Given the description of an element on the screen output the (x, y) to click on. 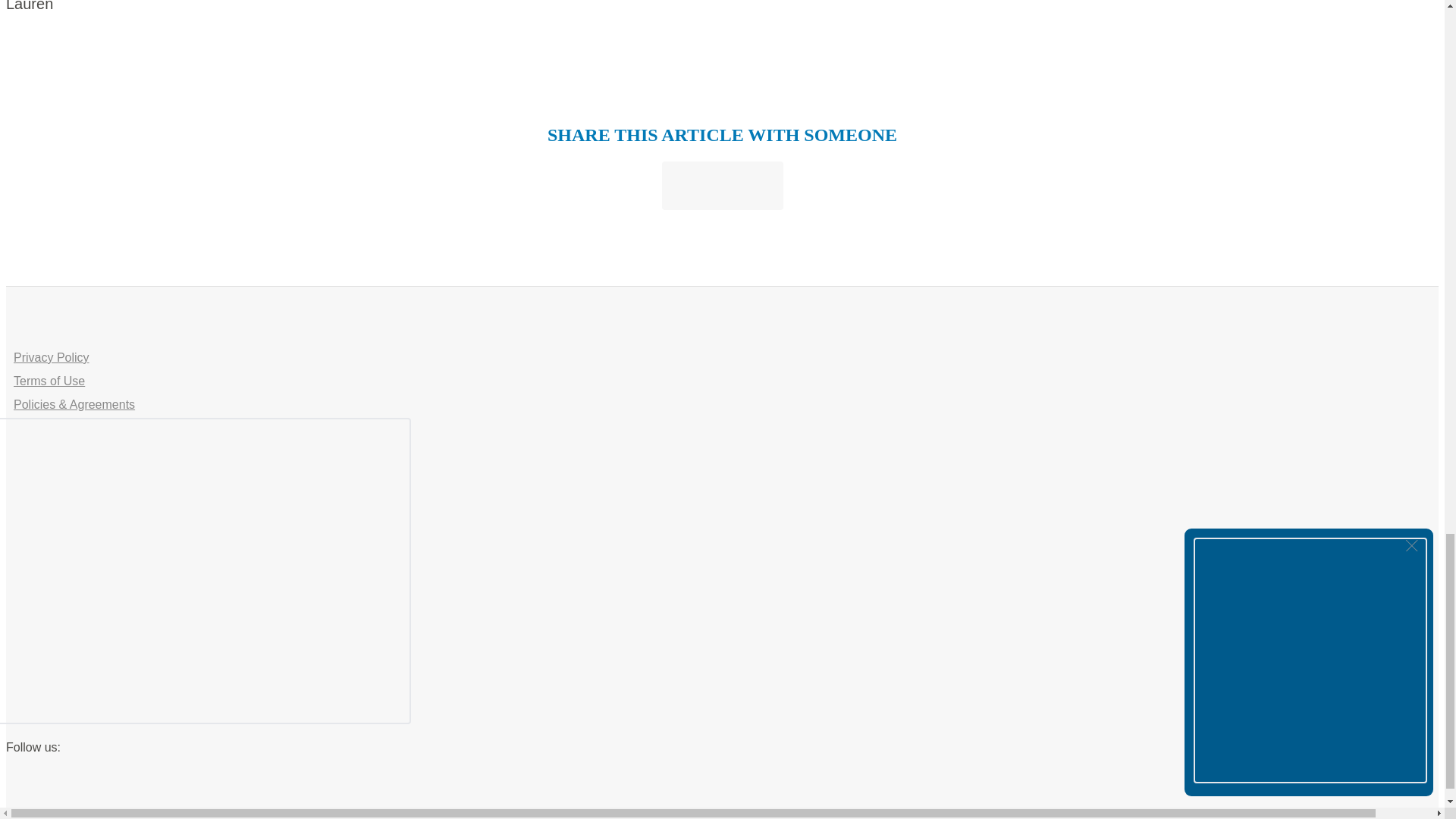
Privacy Policy (50, 358)
Terms of Use (48, 382)
